Given the description of an element on the screen output the (x, y) to click on. 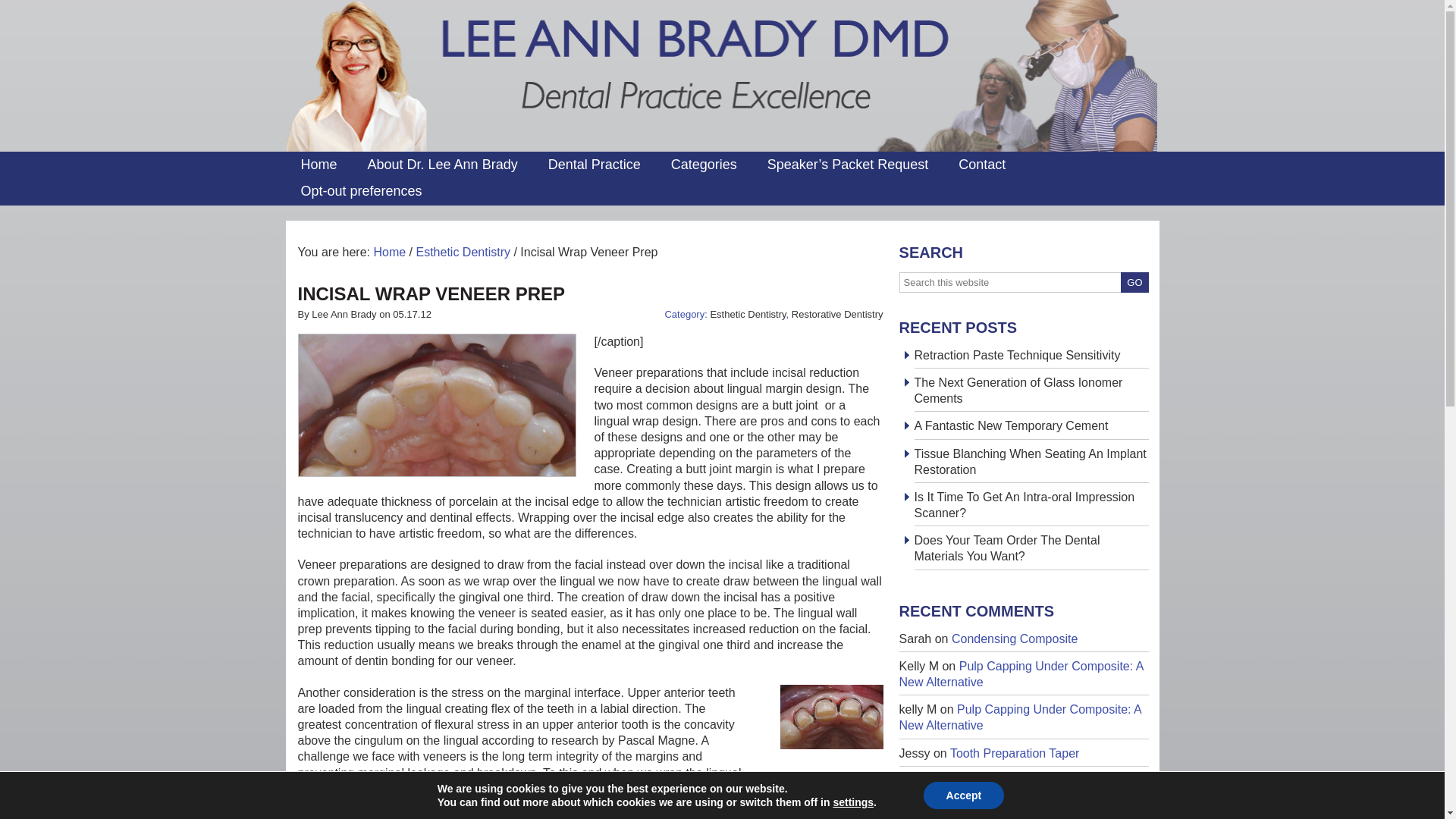
A Fantastic New Temporary Cement (1011, 425)
Categories (704, 164)
GO (1134, 281)
GO (1134, 281)
Home (318, 164)
Tissue Blanching When Seating An Implant Restoration (1030, 461)
Dental Practice (594, 164)
Is It Time To Get An Intra-oral Impression Scanner? (1024, 504)
Restorative Dentistry (837, 314)
Does Your Team Order The Dental Materials You Want? (1007, 547)
About Dr. Lee Ann Brady (442, 164)
GO (1134, 281)
Opt-out preferences (360, 191)
Condensing Composite (1014, 638)
Home (389, 251)
